Given the description of an element on the screen output the (x, y) to click on. 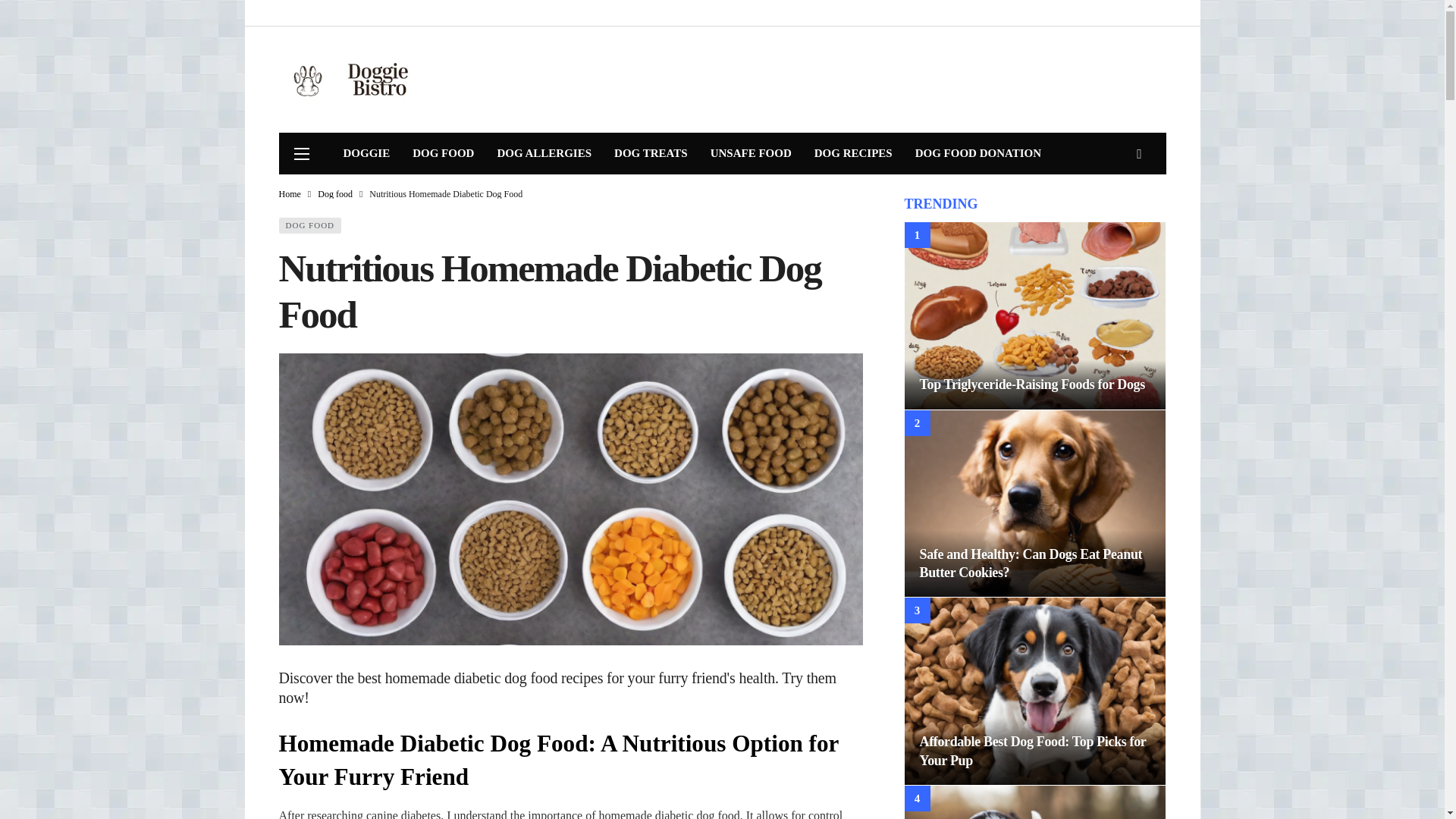
DOG RECIPES (853, 153)
Home (290, 194)
DOG FOOD DONATION (978, 153)
UNSAFE FOOD (750, 153)
Safe and Healthy: Can Dogs Eat Peanut Butter Cookies? (1029, 563)
DOG ALLERGIES (543, 153)
DOG FOOD (442, 153)
DOG TREATS (650, 153)
Dog food (334, 194)
DOG FOOD (310, 225)
